Given the description of an element on the screen output the (x, y) to click on. 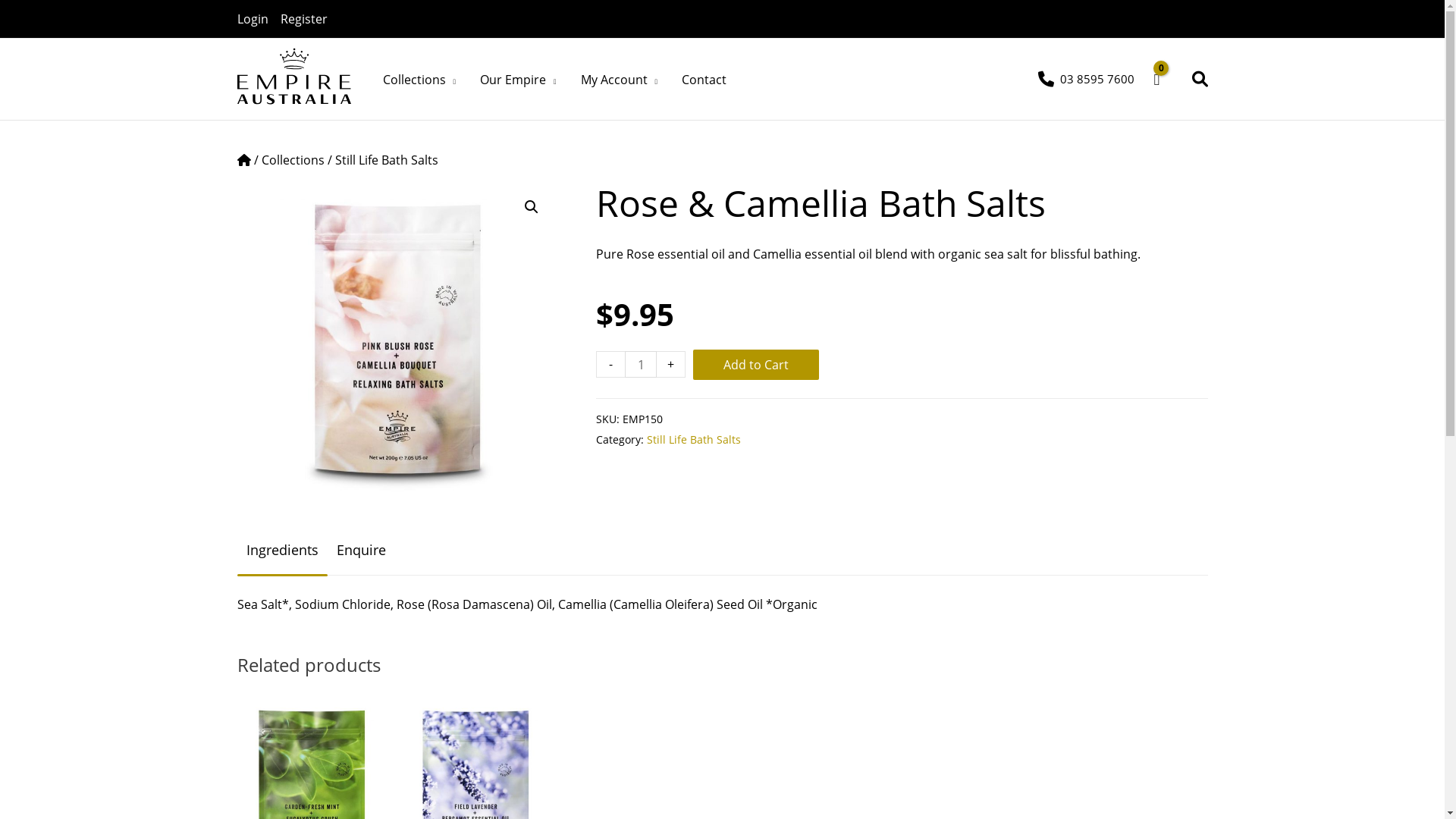
Add to Cart Element type: text (756, 364)
03 8595 7600 Element type: text (1086, 79)
rose-camellia-bath-salts-76-131226144771277109-5 Element type: hover (396, 341)
Our Empire Element type: text (517, 79)
Still Life Bath Salts Element type: text (386, 159)
Search Element type: text (1200, 79)
+ Element type: text (670, 364)
Collections Element type: text (418, 79)
My Account Element type: text (619, 79)
Contact Element type: text (703, 79)
Register Element type: text (309, 18)
- Element type: text (610, 364)
Login Element type: text (257, 18)
Qty Element type: hover (640, 364)
View your shopping cart Element type: hover (1167, 79)
Collections Element type: text (291, 159)
Still Life Bath Salts Element type: text (693, 439)
